Given the description of an element on the screen output the (x, y) to click on. 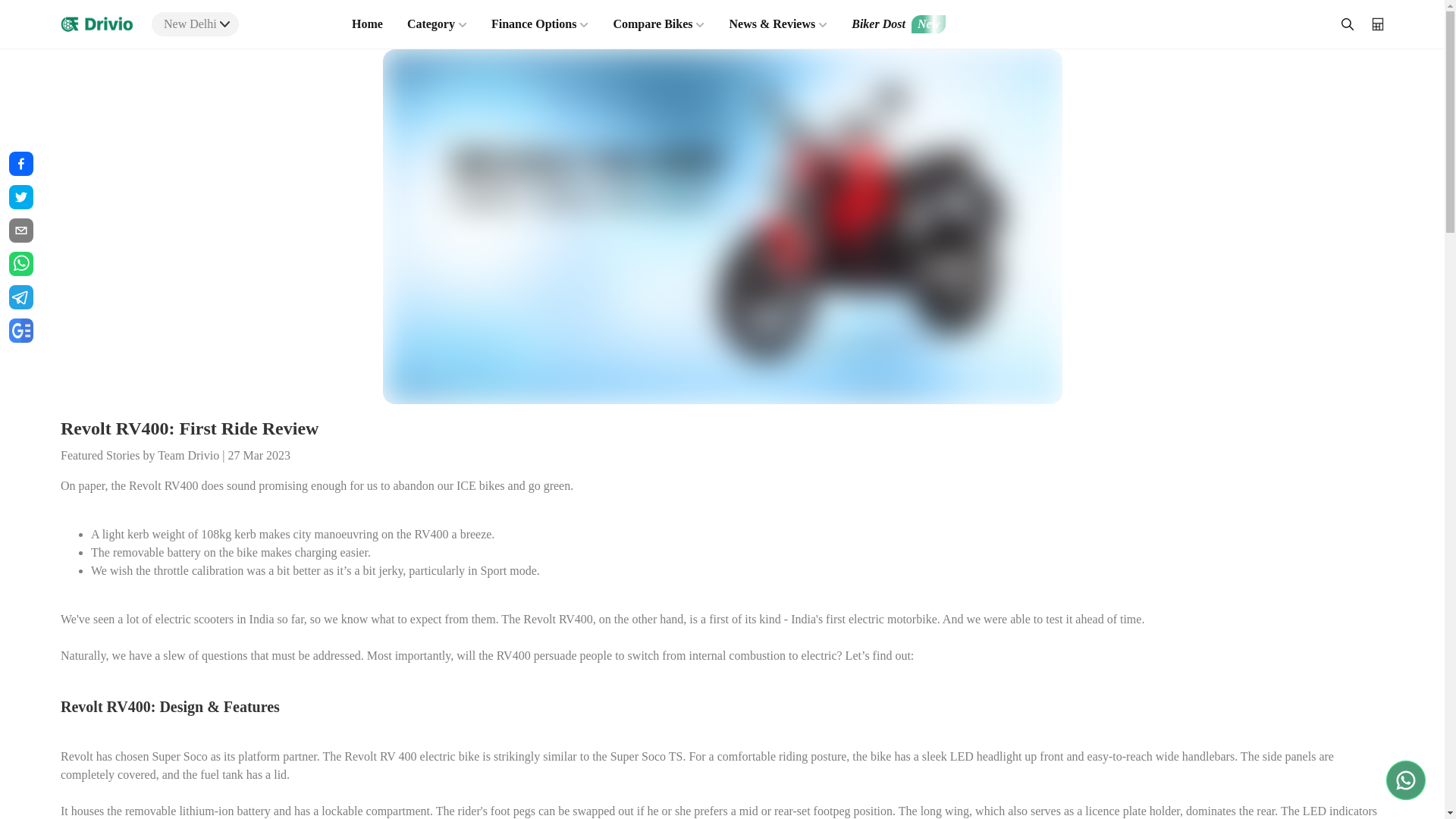
Drivio (97, 23)
New (927, 24)
news (20, 330)
City (224, 23)
Search (1347, 24)
